Given the description of an element on the screen output the (x, y) to click on. 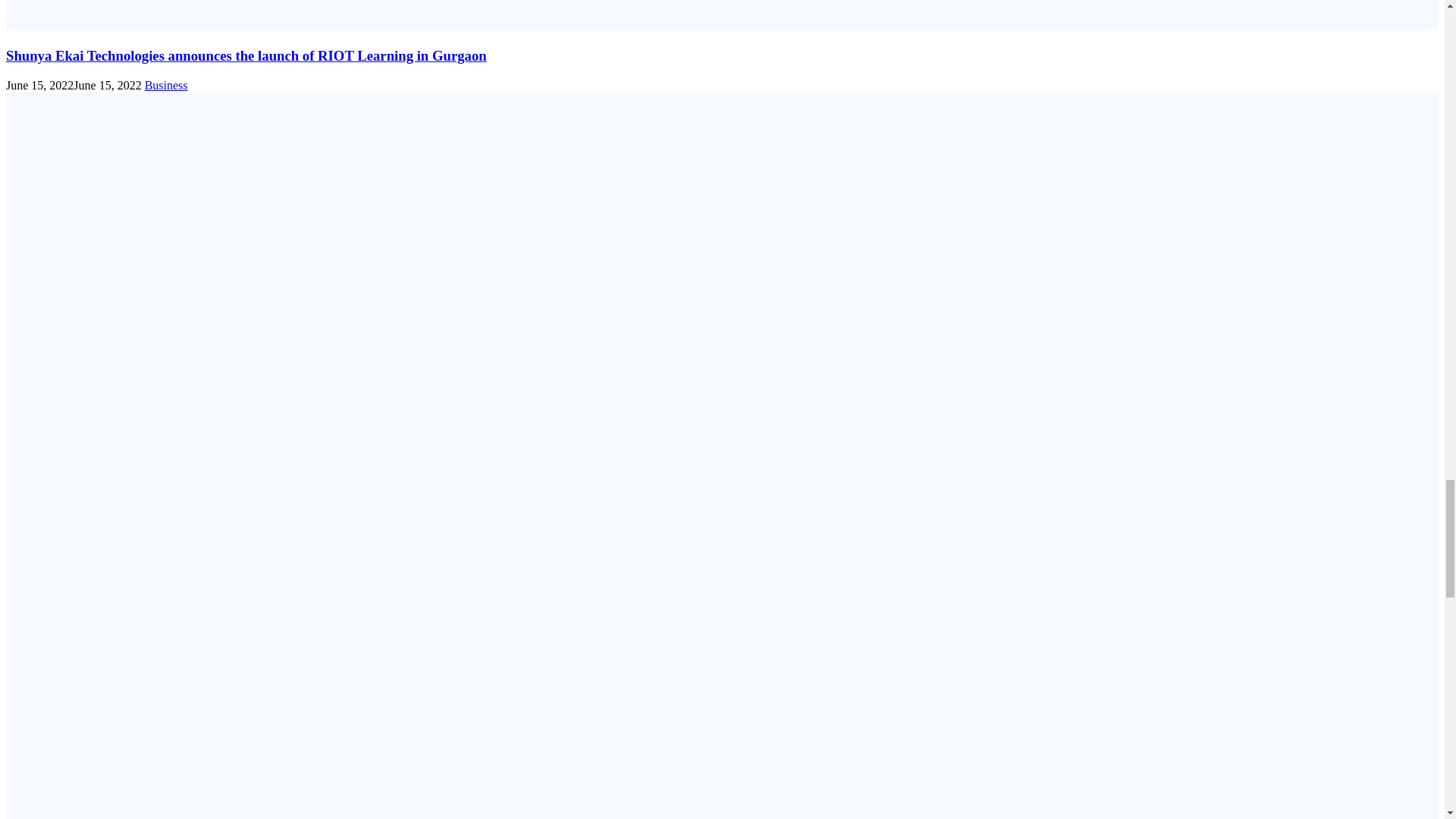
Business (165, 84)
